Given the description of an element on the screen output the (x, y) to click on. 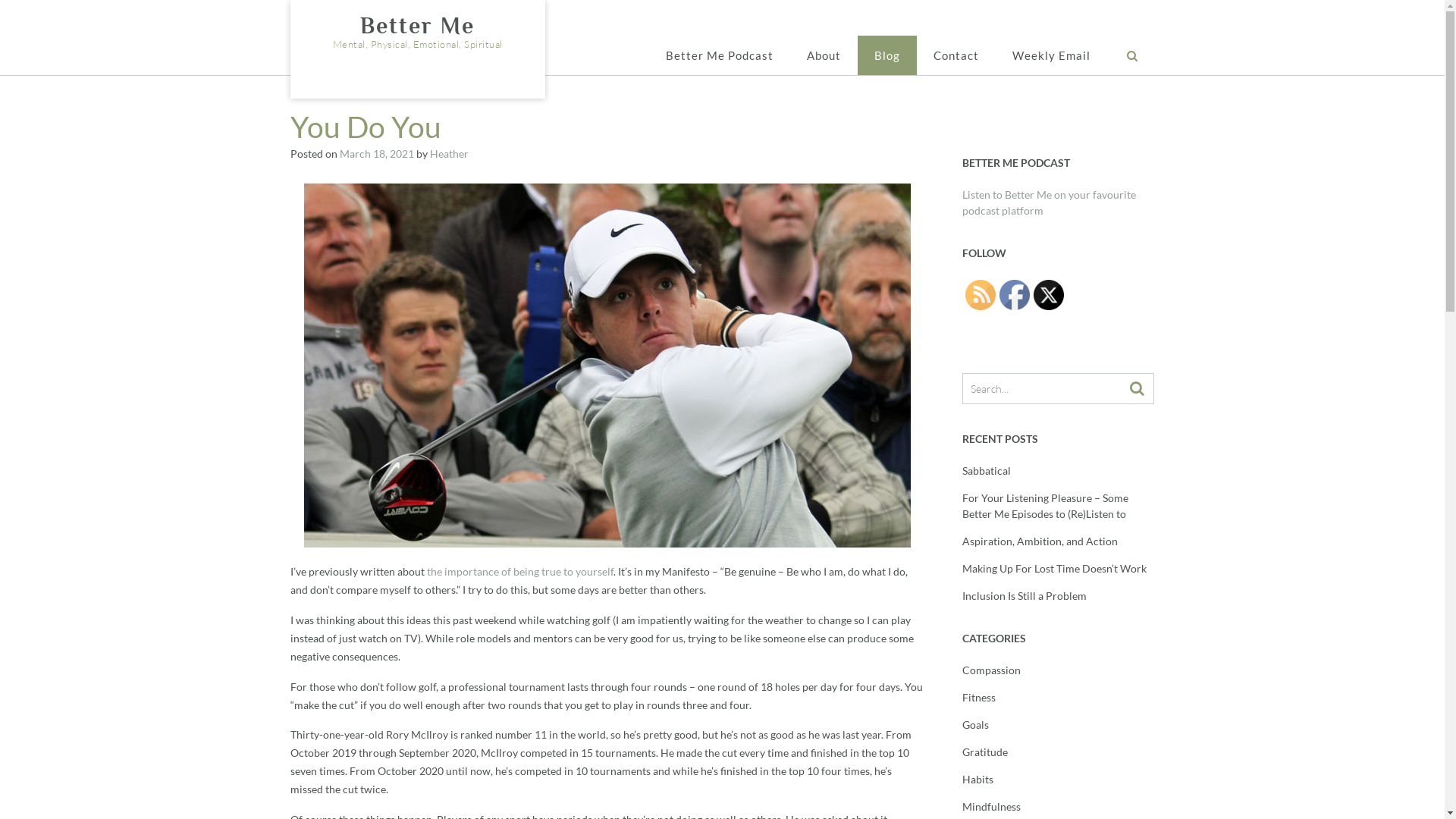
Inclusion Is Still a Problem Element type: text (1024, 595)
Aspiration, Ambition, and Action Element type: text (1039, 540)
Better Me Element type: text (417, 25)
the importance of being true to yourself Element type: text (519, 570)
Twitter Element type: hover (1048, 294)
Fitness Element type: text (978, 696)
Mindfulness Element type: text (991, 806)
Goals Element type: text (975, 724)
RSS Element type: hover (980, 294)
Habits Element type: text (977, 778)
Blog Element type: text (886, 55)
Search for: Element type: hover (1045, 388)
Contact Element type: text (955, 55)
Compassion Element type: text (991, 669)
Gratitude Element type: text (984, 751)
About Element type: text (823, 55)
Better Me Podcast Element type: text (719, 55)
Heather Element type: text (448, 153)
Facebook Element type: hover (1014, 294)
Listen to Better Me on your favourite podcast platform Element type: text (1048, 202)
Sabbatical Element type: text (986, 470)
Weekly Email Element type: text (1050, 55)
March 18, 2021 Element type: text (376, 153)
